Given the description of an element on the screen output the (x, y) to click on. 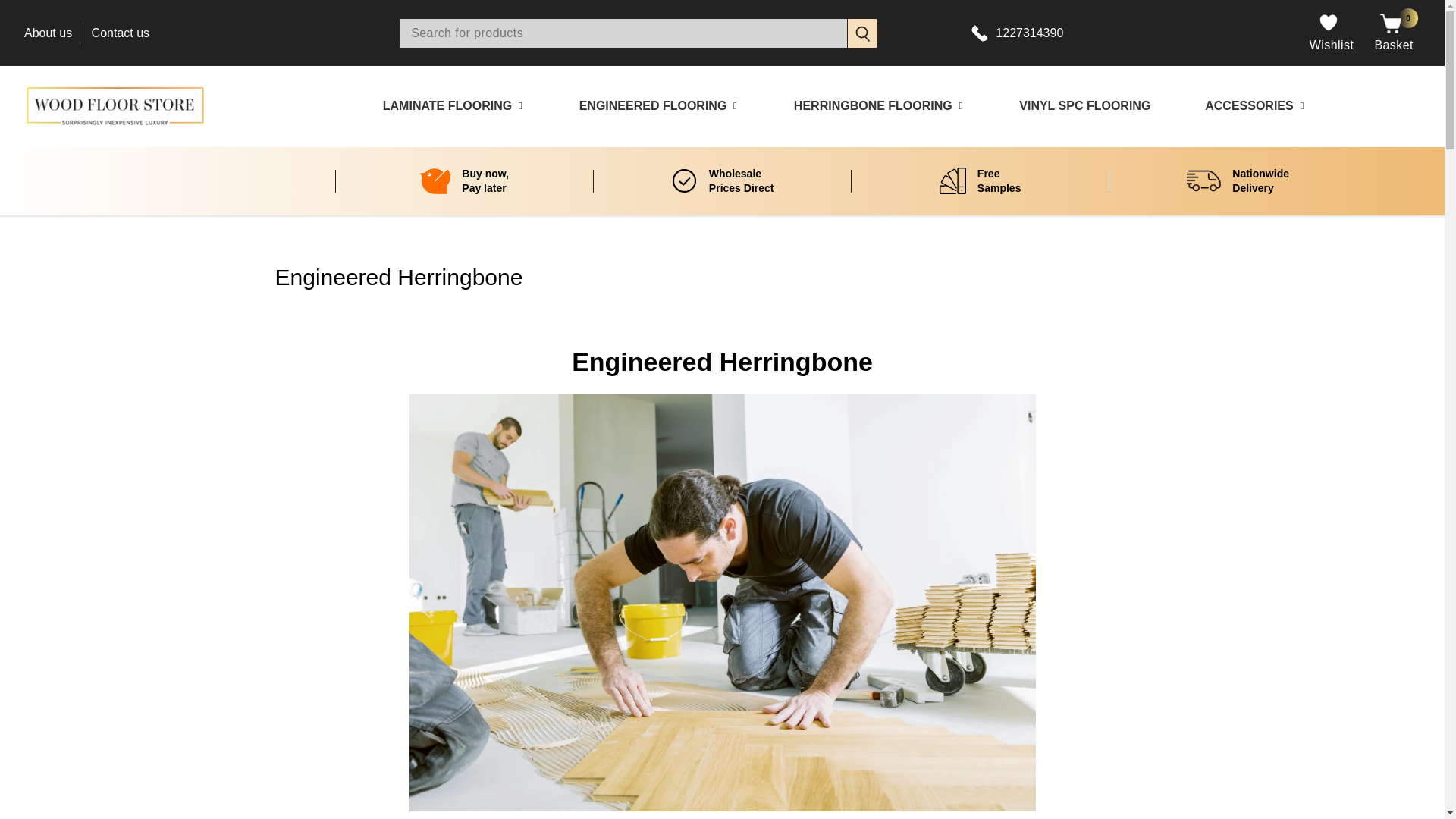
Contact us (120, 32)
ENGINEERED FLOORING (650, 106)
About us (47, 32)
Wishlist (1331, 45)
Basket (1393, 45)
ACCESSORIES (1246, 106)
1227314390 (1028, 33)
0 (1390, 24)
VINYL SPC FLOORING (1083, 106)
Wood Floor Store (115, 106)
LAMINATE FLOORING (444, 106)
HERRINGBONE FLOORING (871, 106)
